Given the description of an element on the screen output the (x, y) to click on. 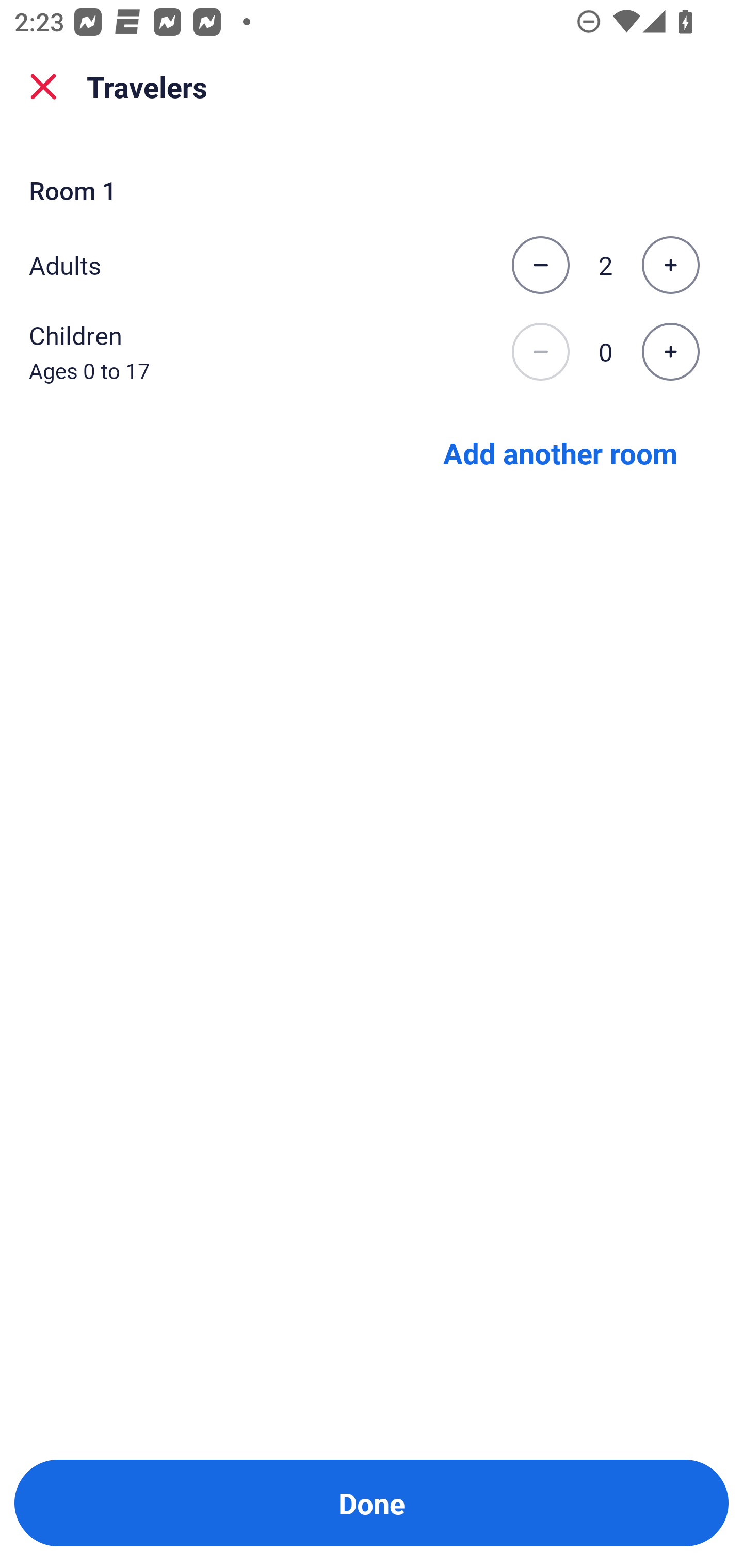
close (43, 86)
Decrease the number of adults (540, 264)
Increase the number of adults (670, 264)
Decrease the number of children (540, 351)
Increase the number of children (670, 351)
Add another room (560, 452)
Done (371, 1502)
